Given the description of an element on the screen output the (x, y) to click on. 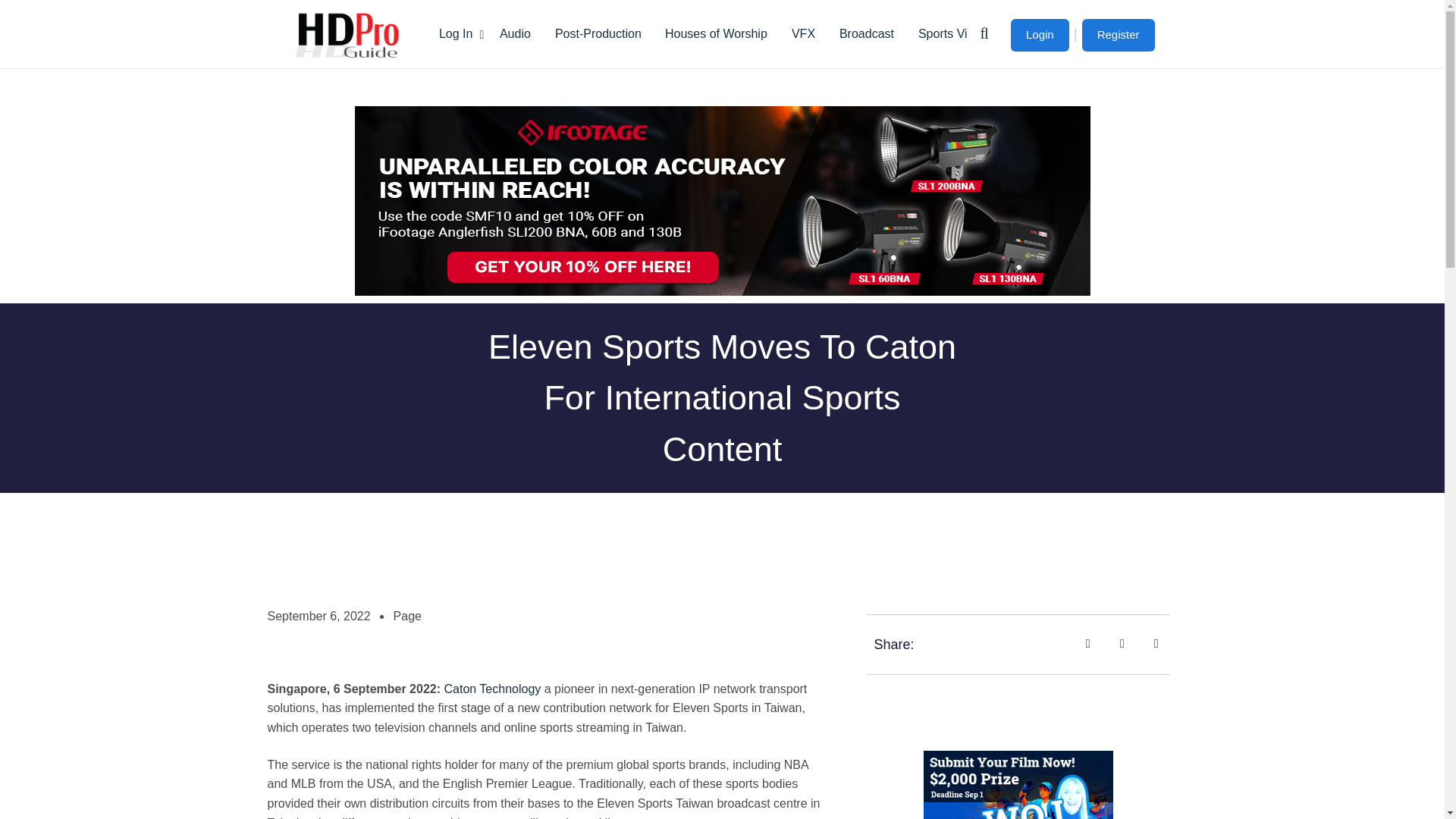
Broadcast (866, 33)
Log In (456, 33)
Post-Production (598, 33)
Register (1117, 34)
Search (1088, 114)
Login (1039, 34)
Sports Video (951, 33)
Houses of Worship (715, 33)
Register (1117, 34)
Login (1039, 34)
VFX (802, 33)
Audio (515, 33)
